Given the description of an element on the screen output the (x, y) to click on. 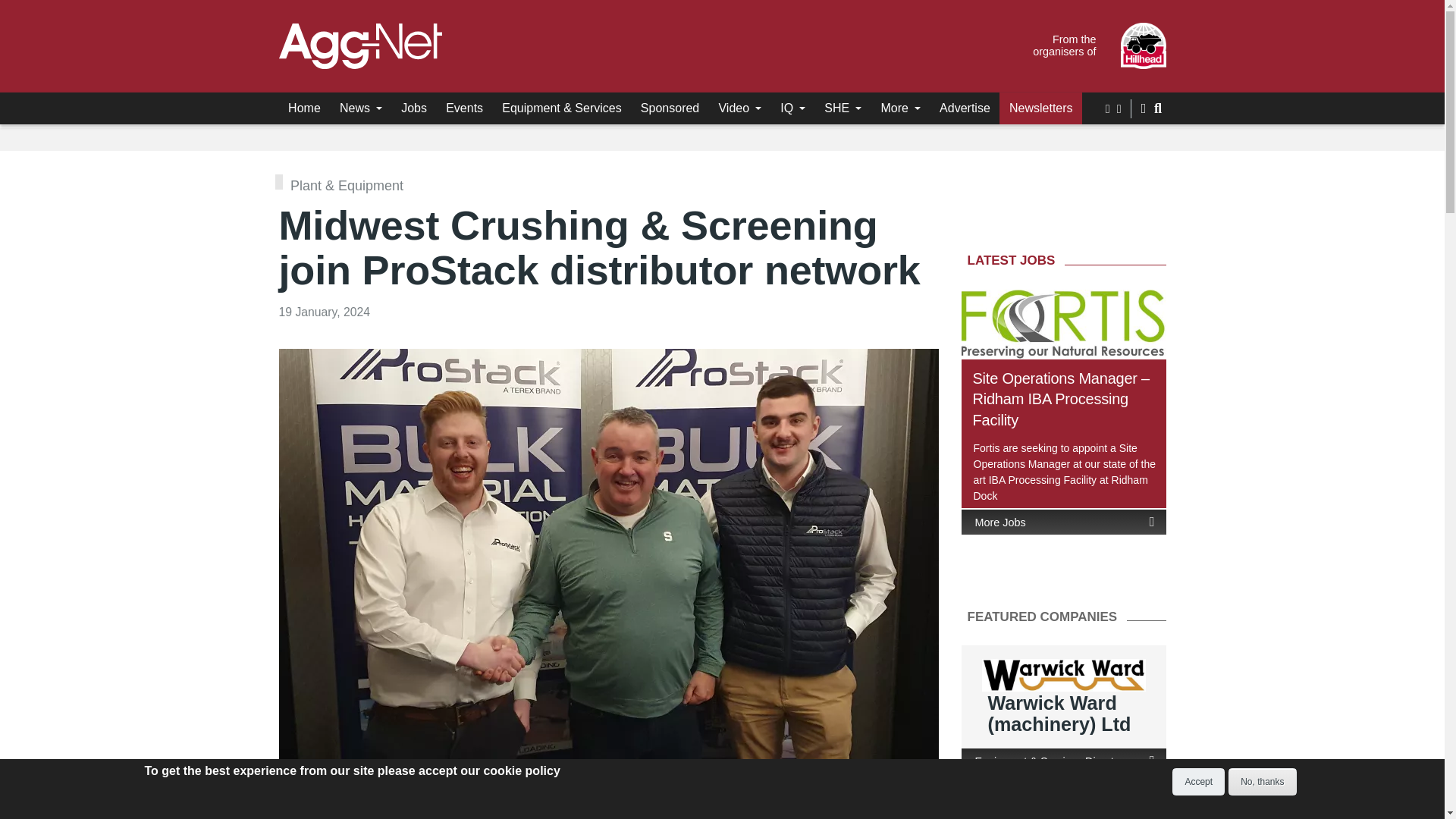
More (900, 108)
Newsletters (1039, 108)
SHE (842, 108)
News (360, 108)
Advertise (964, 108)
Jobs (413, 108)
IQ (793, 108)
Home (304, 108)
Events (464, 108)
Sponsored (669, 108)
Video (740, 108)
